Given the description of an element on the screen output the (x, y) to click on. 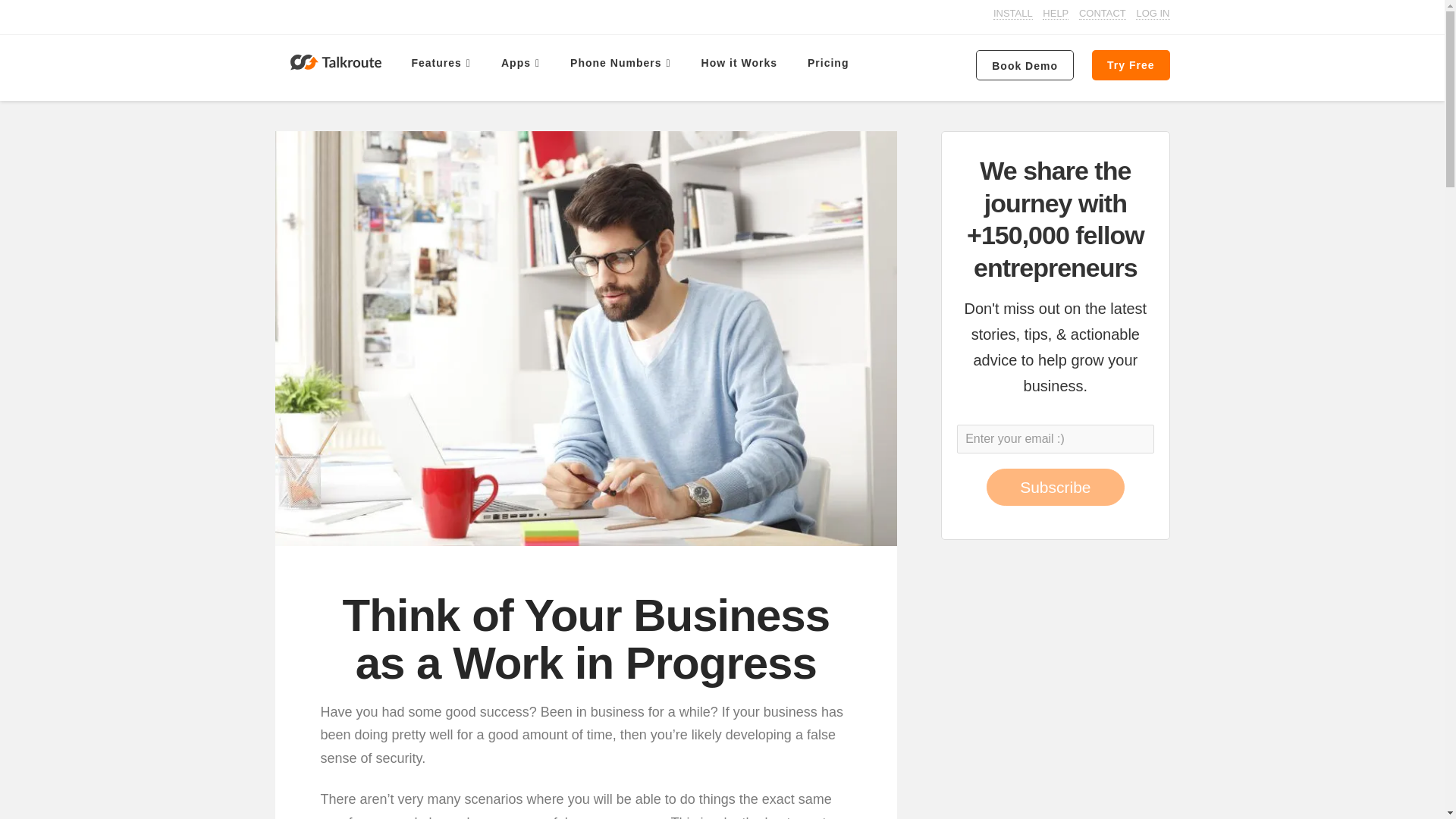
HELP (1055, 13)
Features (440, 63)
Phone Numbers (619, 63)
CONTACT (1101, 13)
LOG IN (1152, 13)
INSTALL (1012, 13)
Apps (520, 63)
